Given the description of an element on the screen output the (x, y) to click on. 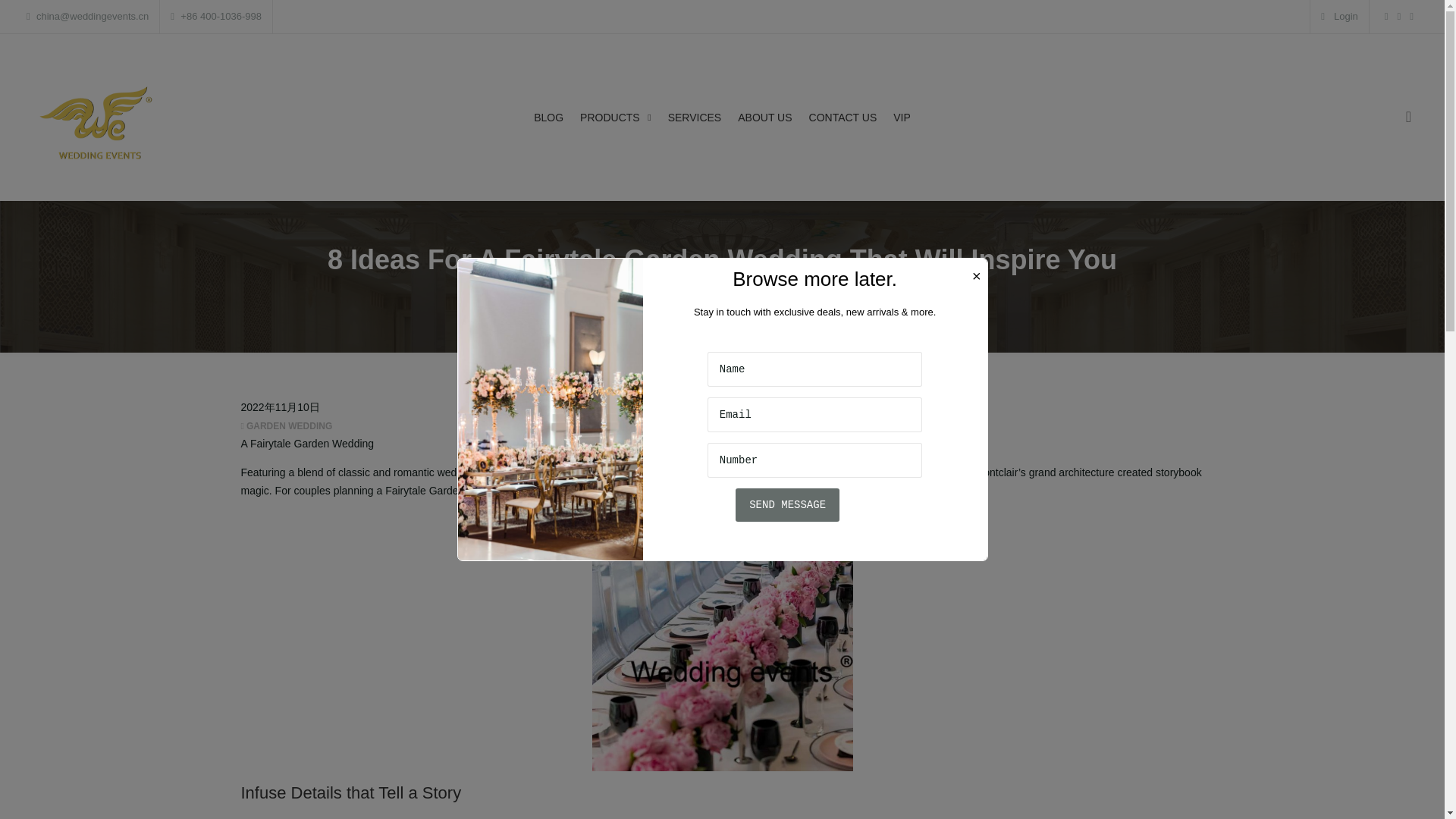
PRODUCTS (614, 117)
pm5:02 (280, 407)
  Login (1338, 16)
Home (530, 300)
Send Message (787, 504)
